Given the description of an element on the screen output the (x, y) to click on. 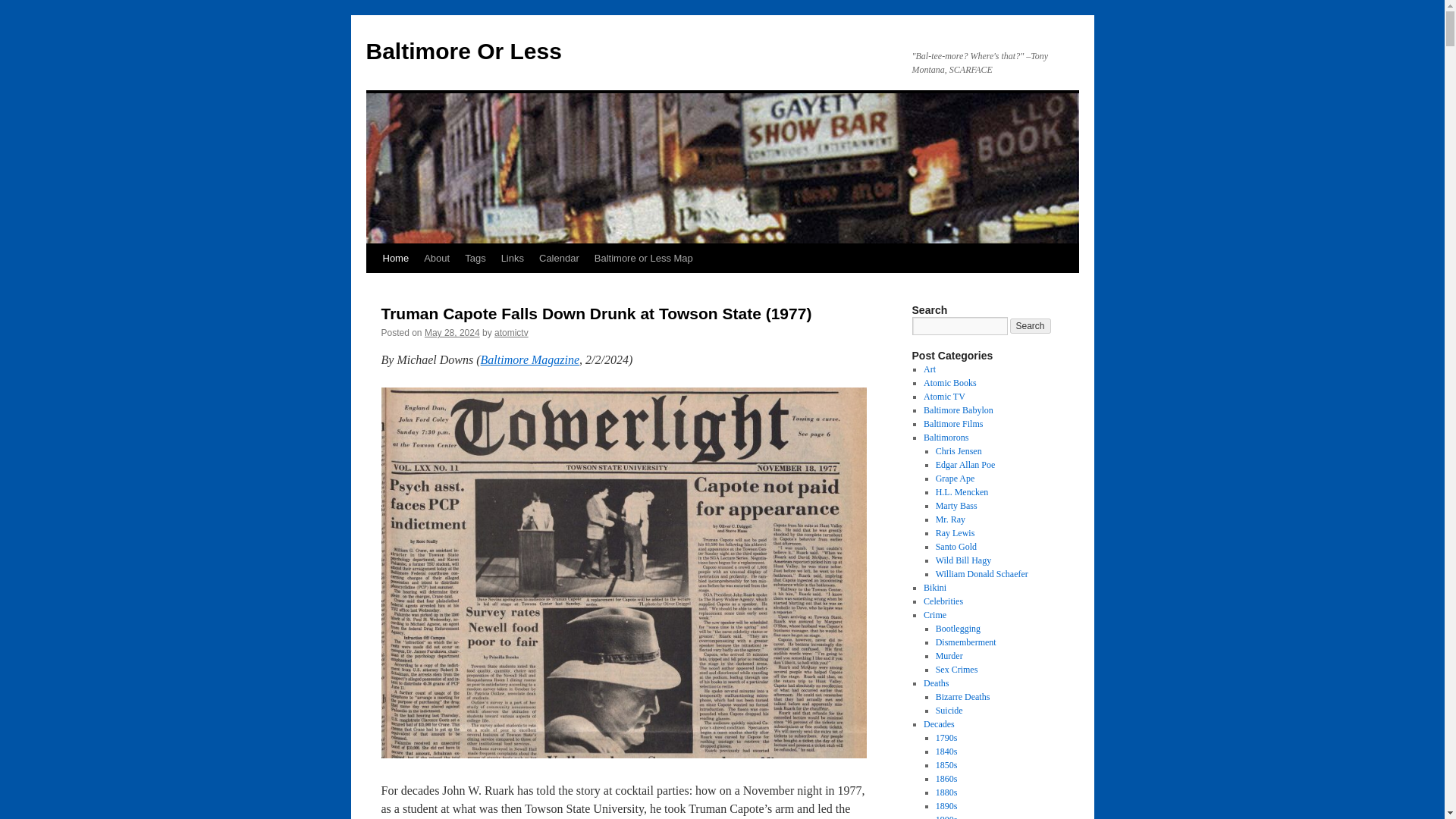
View all posts by atomictv (511, 332)
Home (395, 258)
Tags (475, 258)
Links (512, 258)
9:31 pm (452, 332)
About (436, 258)
Baltimore Or Less (462, 50)
About (436, 258)
Calendar (558, 258)
Search (1030, 325)
Baltimore Magazine (529, 359)
Links (512, 258)
May 28, 2024 (452, 332)
atomictv (511, 332)
Baltimore or Less Map (643, 258)
